Given the description of an element on the screen output the (x, y) to click on. 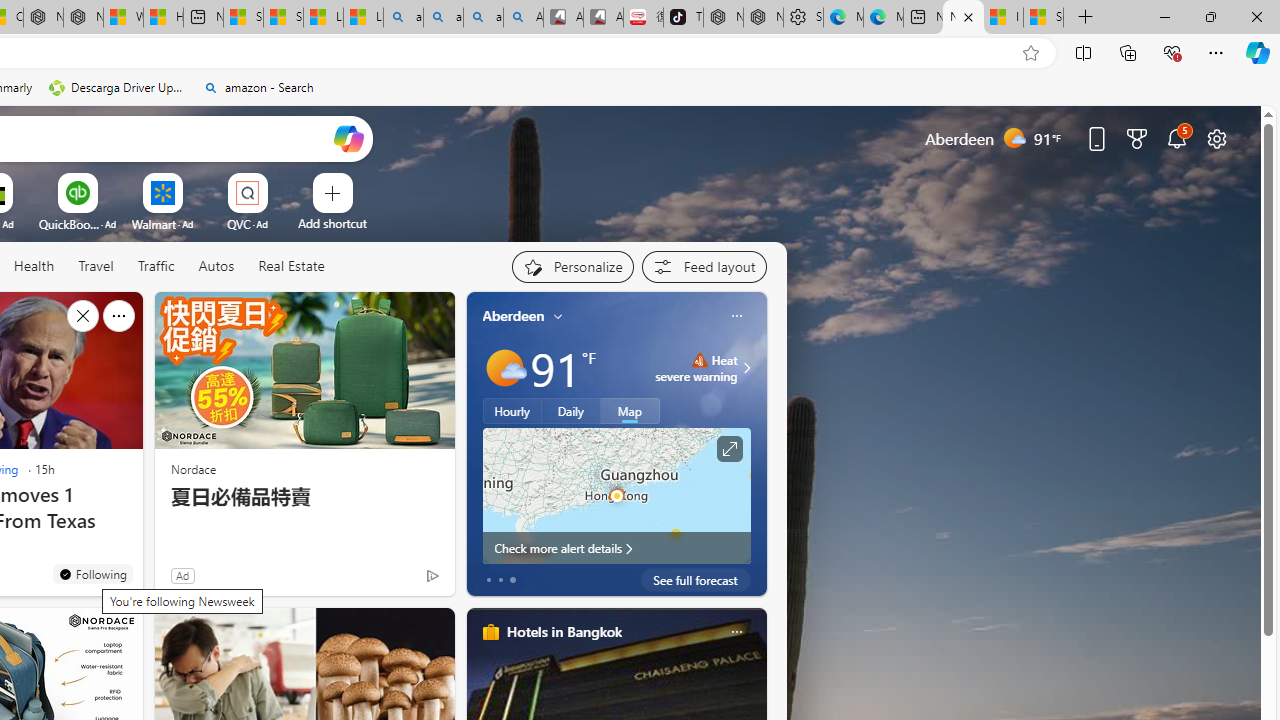
Class: icon-img (736, 632)
Add a site (332, 223)
Check more alert details (616, 547)
Huge shark washes ashore at New York City beach | Watch (163, 17)
My location (558, 315)
amazon - Search (443, 17)
Nordace - Best Sellers (723, 17)
tab-0 (488, 579)
